Given the description of an element on the screen output the (x, y) to click on. 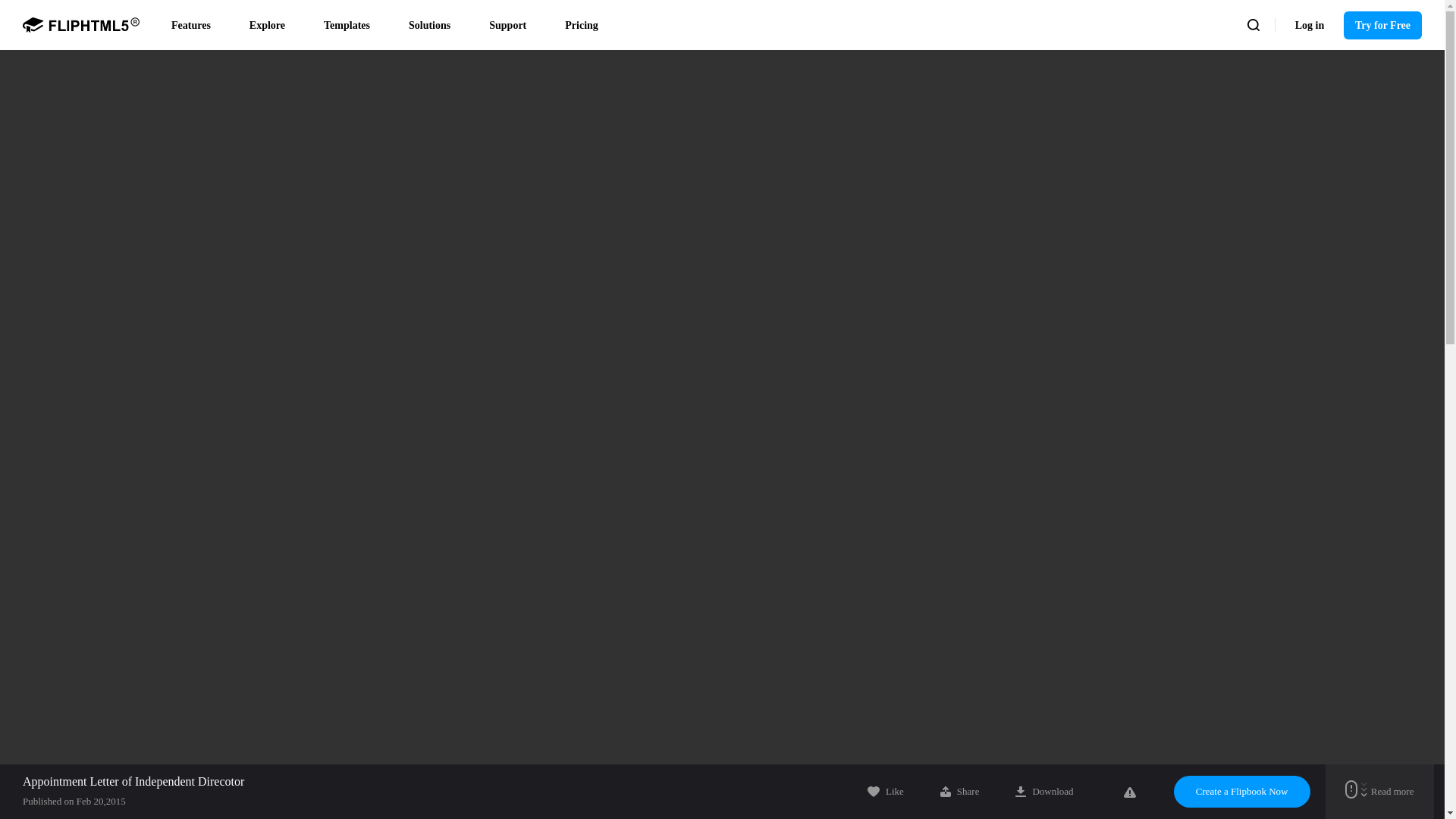
Features (196, 24)
Add to My Favorites (885, 791)
The publisher doesn't allow readers to download this book. (1043, 791)
Explore (272, 24)
